Given the description of an element on the screen output the (x, y) to click on. 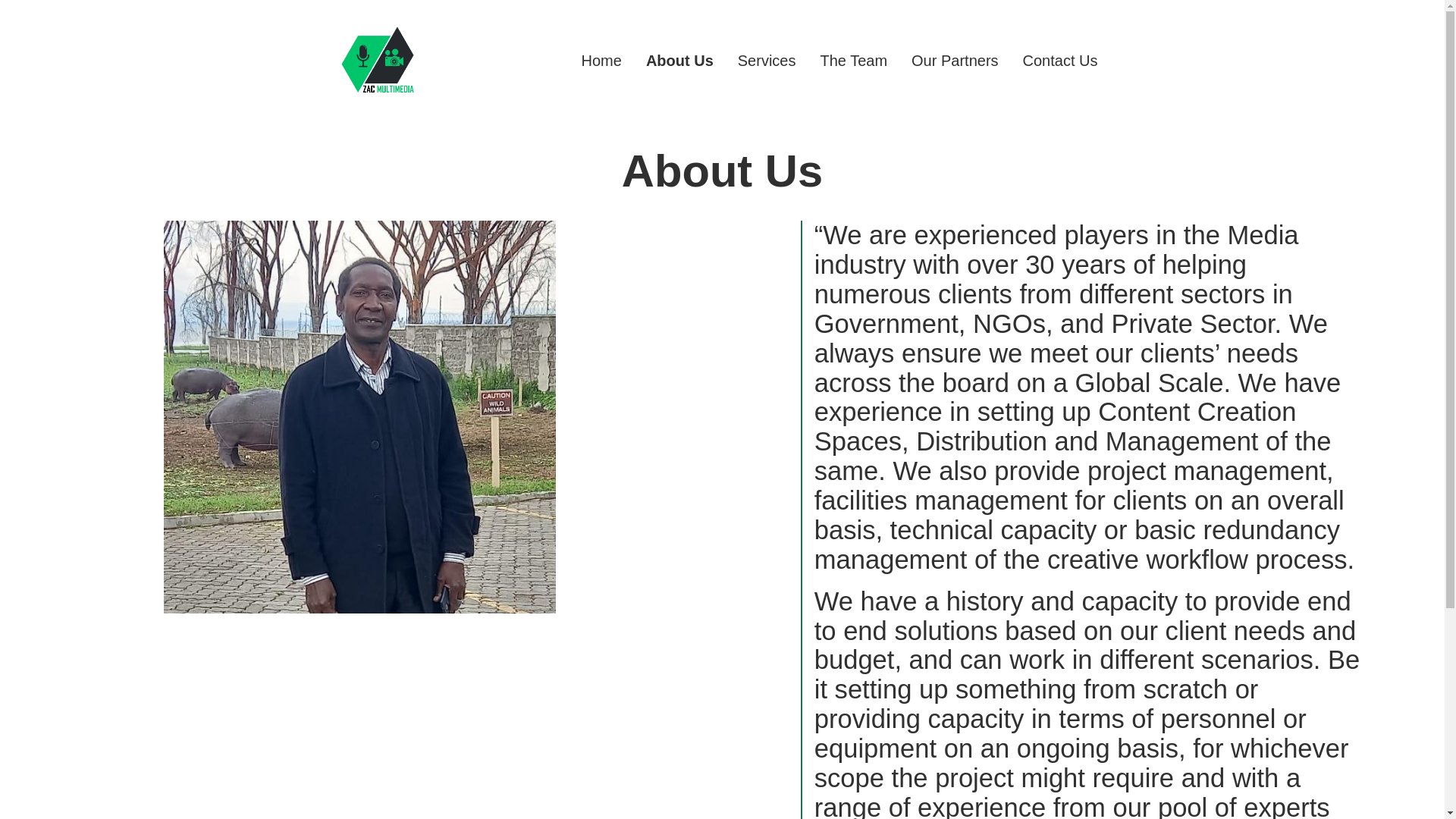
Services (767, 60)
The Team (852, 60)
Zac Multimedia (419, 113)
Home (600, 60)
Our Partners (954, 60)
Contact Us (1060, 60)
About Us (679, 60)
